Given the description of an element on the screen output the (x, y) to click on. 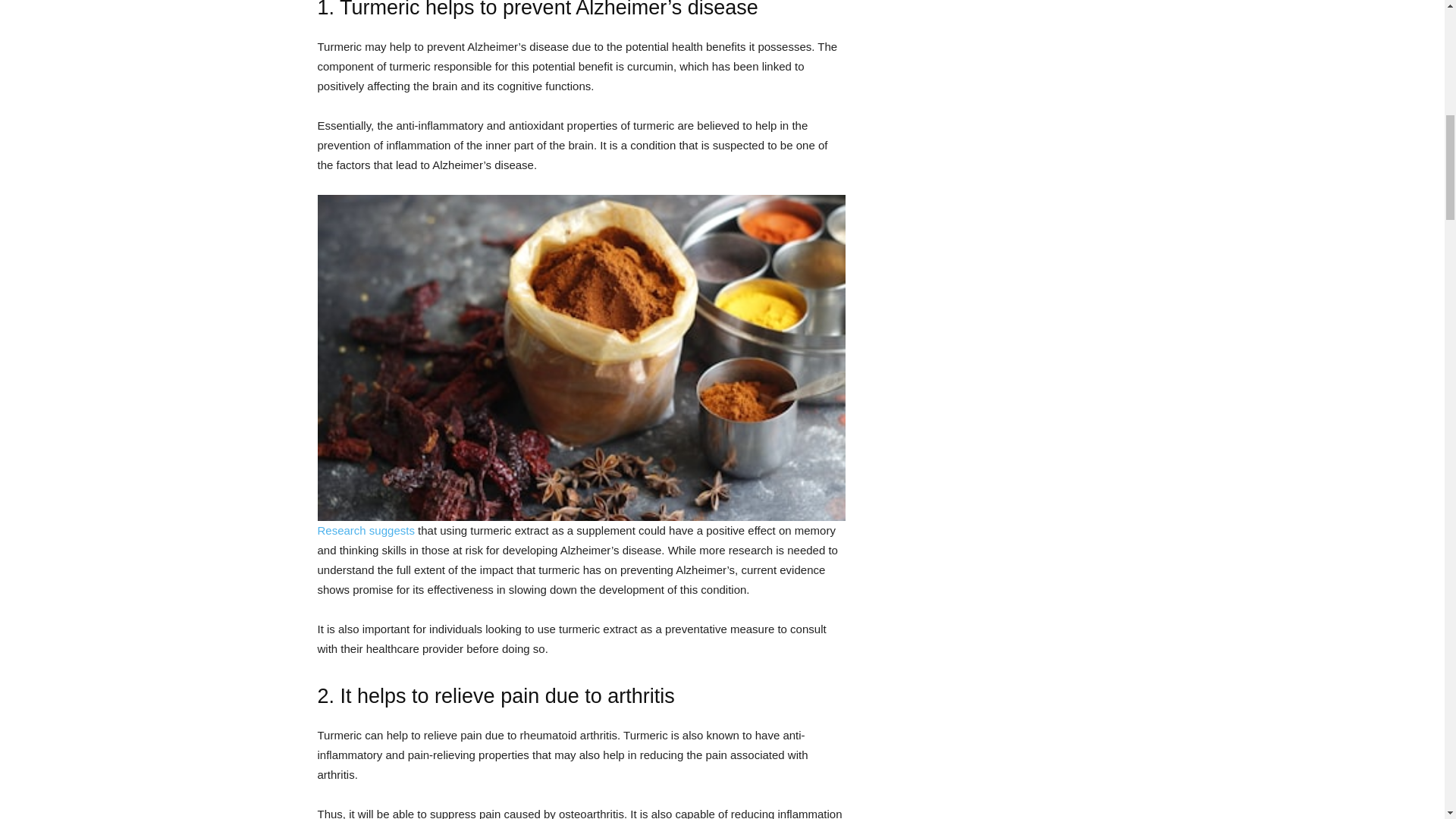
Research suggests (365, 530)
